Given the description of an element on the screen output the (x, y) to click on. 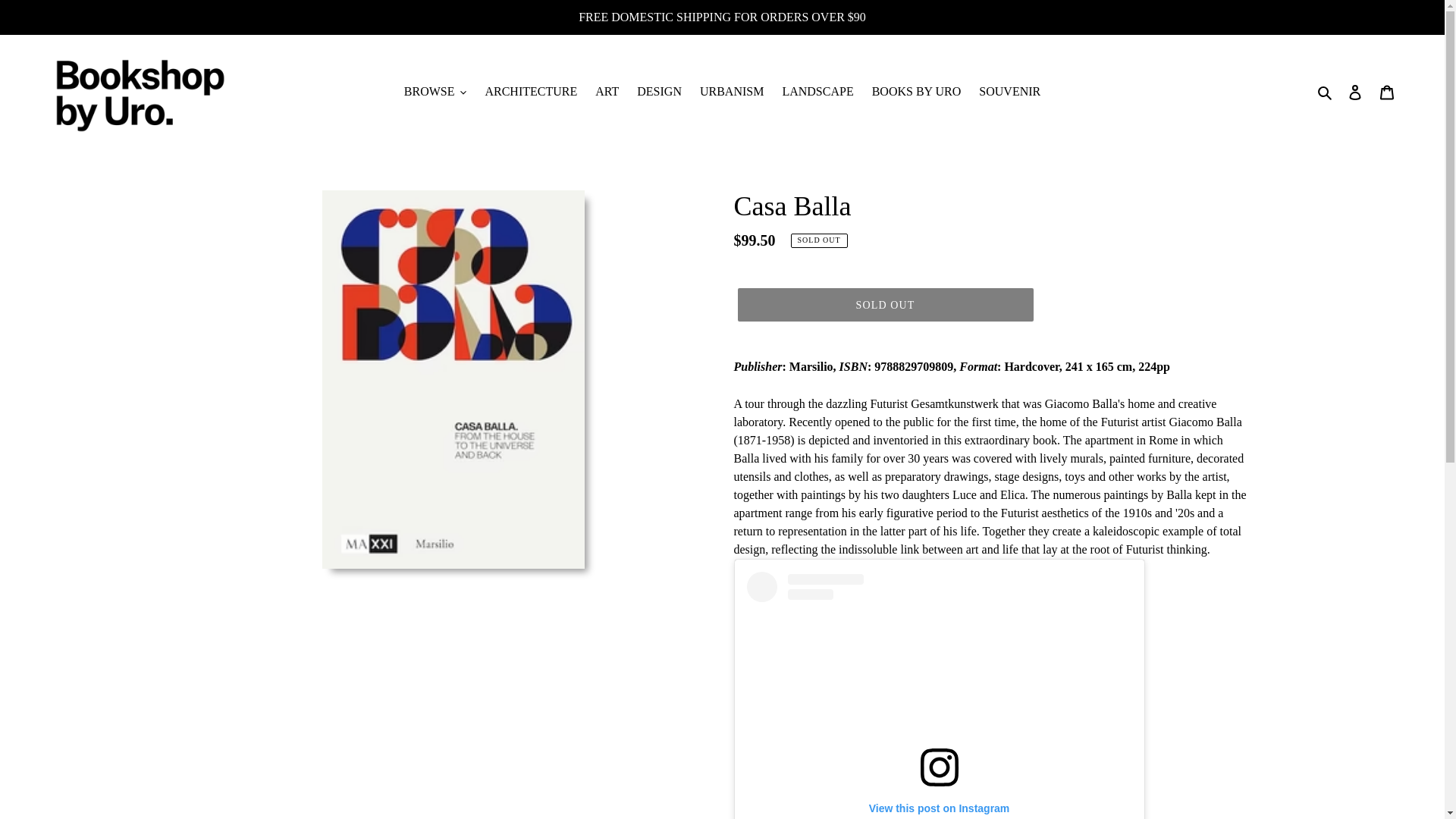
SOUVENIR (1009, 91)
ART (607, 91)
Cart (1387, 91)
DESIGN (658, 91)
ARCHITECTURE (531, 91)
Log in (1355, 91)
URBANISM (732, 91)
Search (1326, 91)
BOOKS BY URO (916, 91)
LANDSCAPE (817, 91)
